Given the description of an element on the screen output the (x, y) to click on. 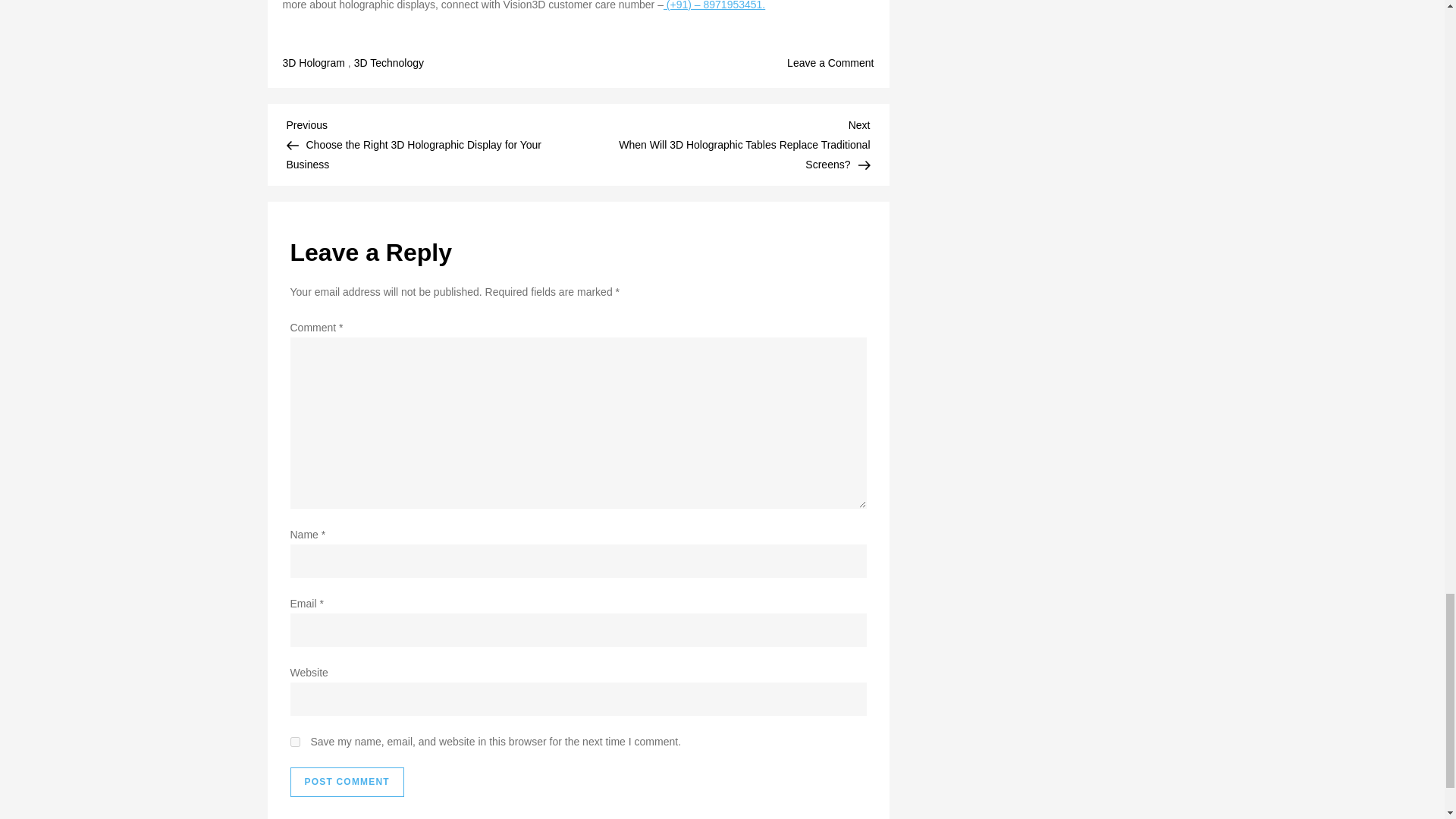
yes (294, 741)
Post Comment (346, 782)
